Given the description of an element on the screen output the (x, y) to click on. 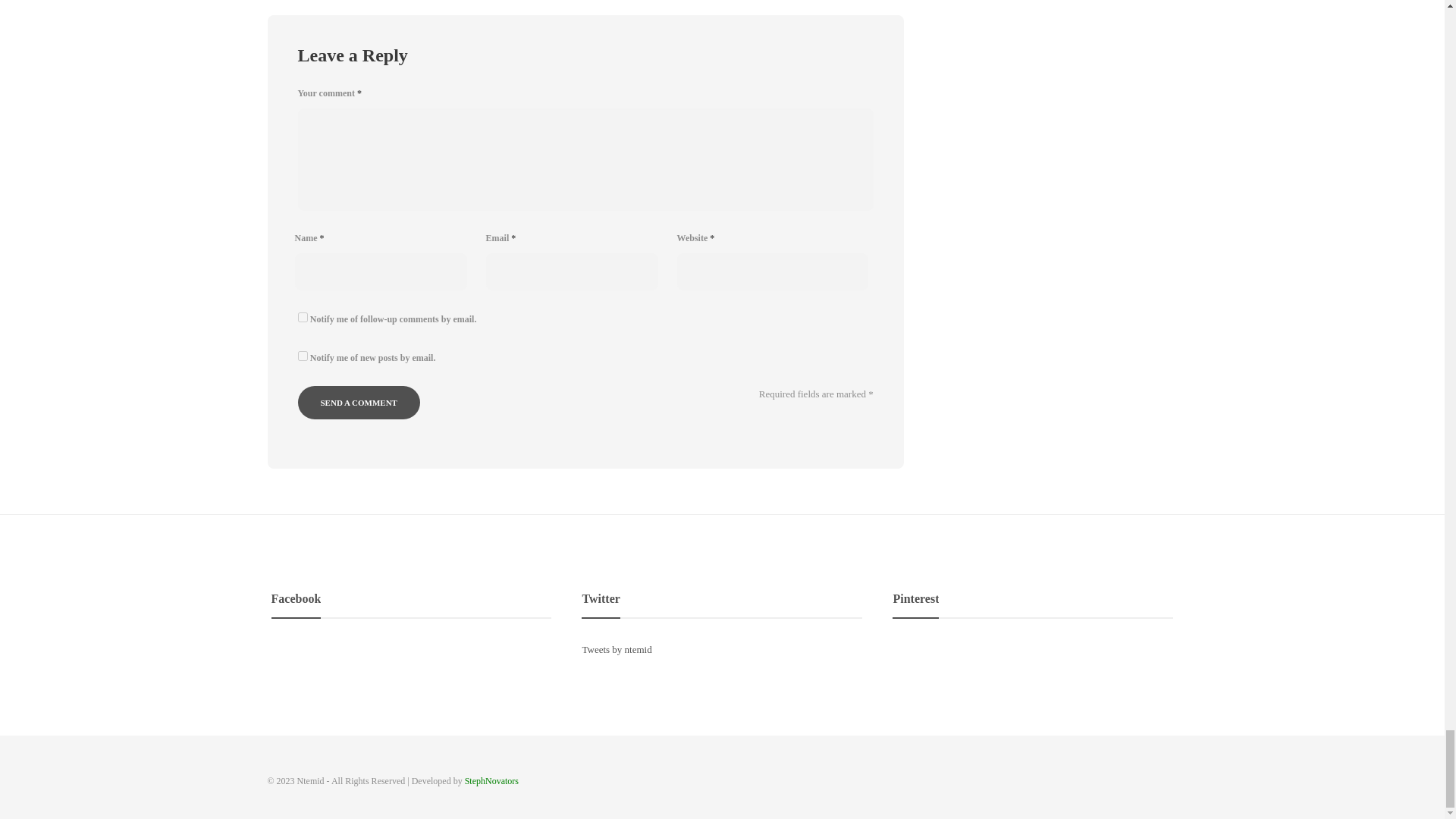
subscribe (302, 356)
Send a comment (358, 402)
subscribe (302, 317)
